Given the description of an element on the screen output the (x, y) to click on. 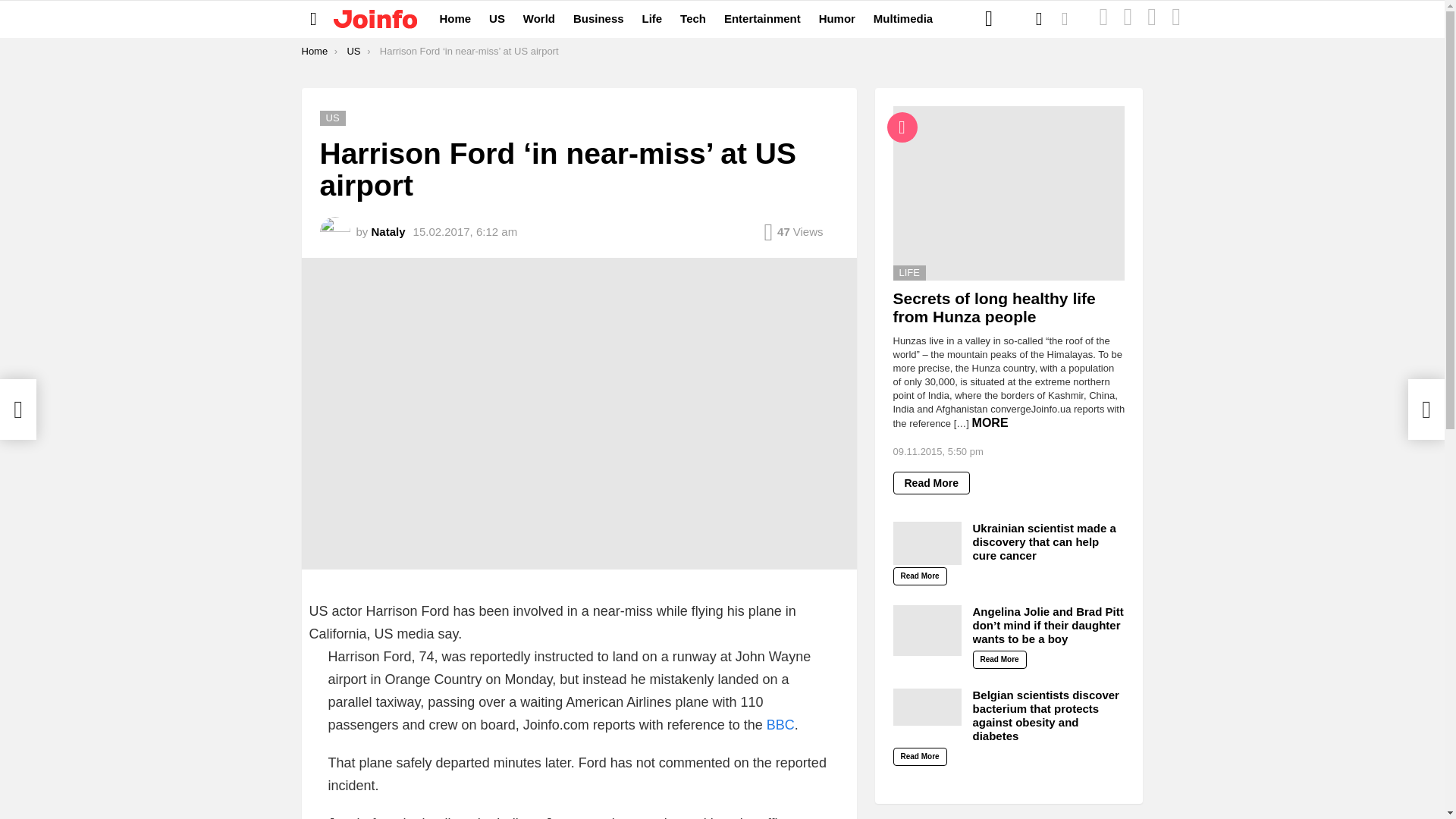
Life (651, 18)
SWITCH SKIN (1064, 19)
POPULAR (1127, 18)
Home (455, 18)
Humor (836, 18)
US (333, 118)
Home (315, 50)
facebook (989, 18)
US (496, 18)
Menu (313, 18)
US (352, 50)
Business (598, 18)
LATEST (1103, 18)
Nataly (388, 231)
